Given the description of an element on the screen output the (x, y) to click on. 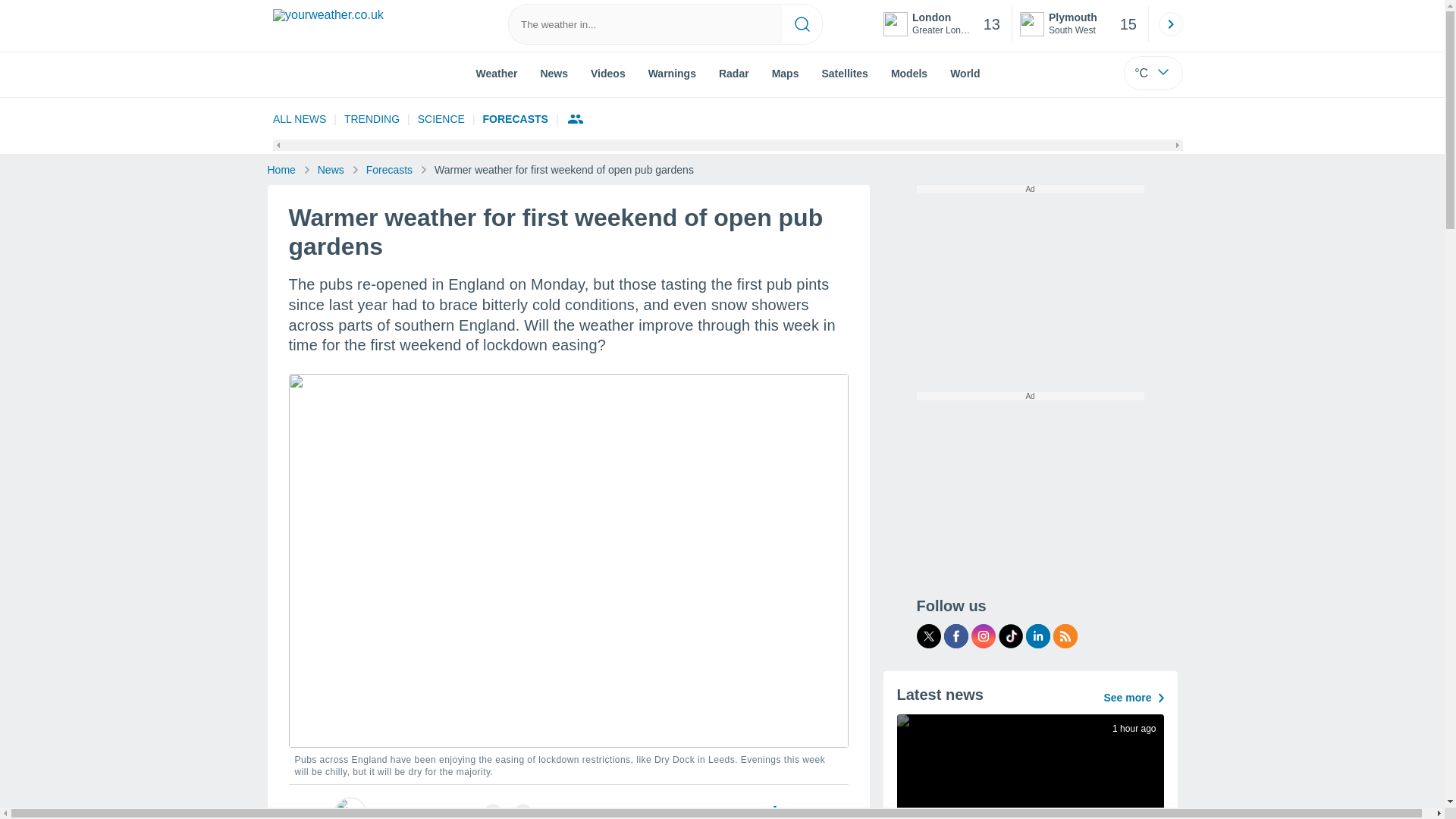
Radar (734, 72)
Science (440, 118)
Videos (608, 72)
Richard Johnson (416, 812)
Satellites (844, 72)
Maps (943, 23)
See more (1079, 23)
Forecasts (785, 72)
